Given the description of an element on the screen output the (x, y) to click on. 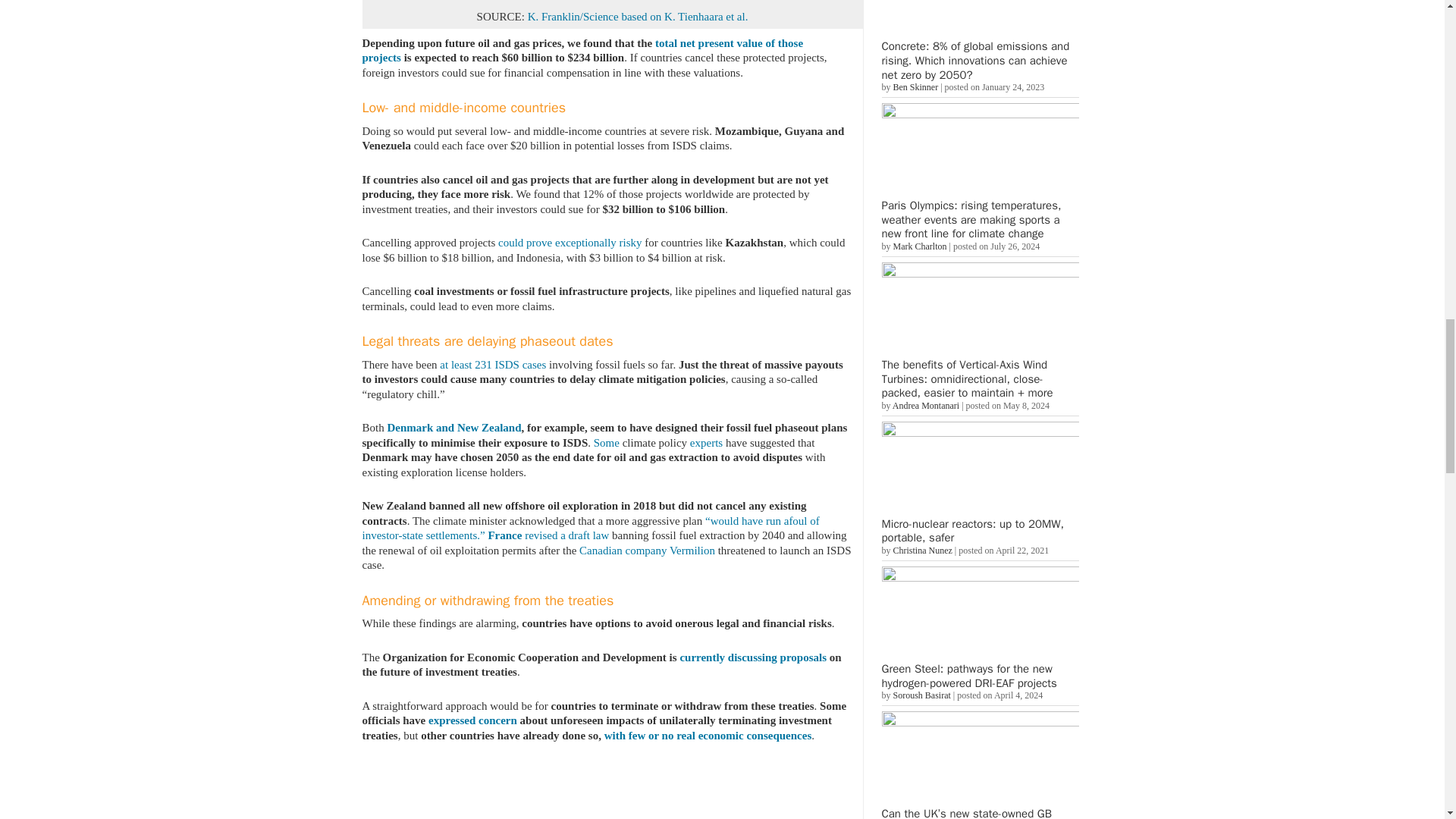
total net present value of those projects (582, 49)
could prove exceptionally risky (569, 242)
France revised a draft law (547, 535)
Canadian company Vermilion (646, 550)
Denmark and New Zealand (454, 427)
experts (706, 442)
currently discussing proposals (753, 656)
at least 231 ISDS cases (492, 363)
Some (607, 442)
